Given the description of an element on the screen output the (x, y) to click on. 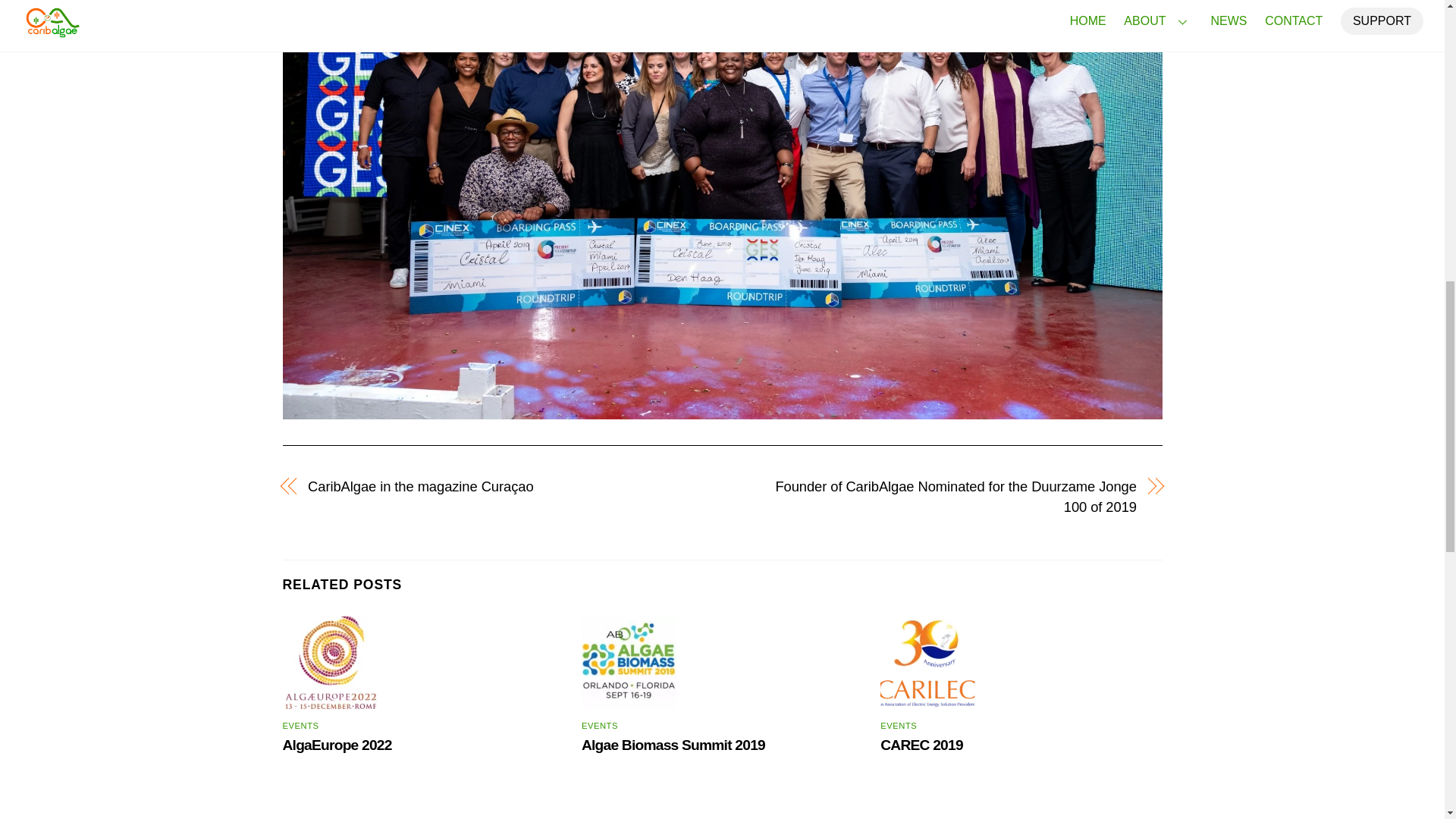
EVENTS (898, 725)
EVENTS (300, 725)
AlgaEurope 2022 (336, 744)
CAREC 2019 (921, 744)
Algae Biomass Summit 2019 (672, 744)
EVENTS (598, 725)
